Given the description of an element on the screen output the (x, y) to click on. 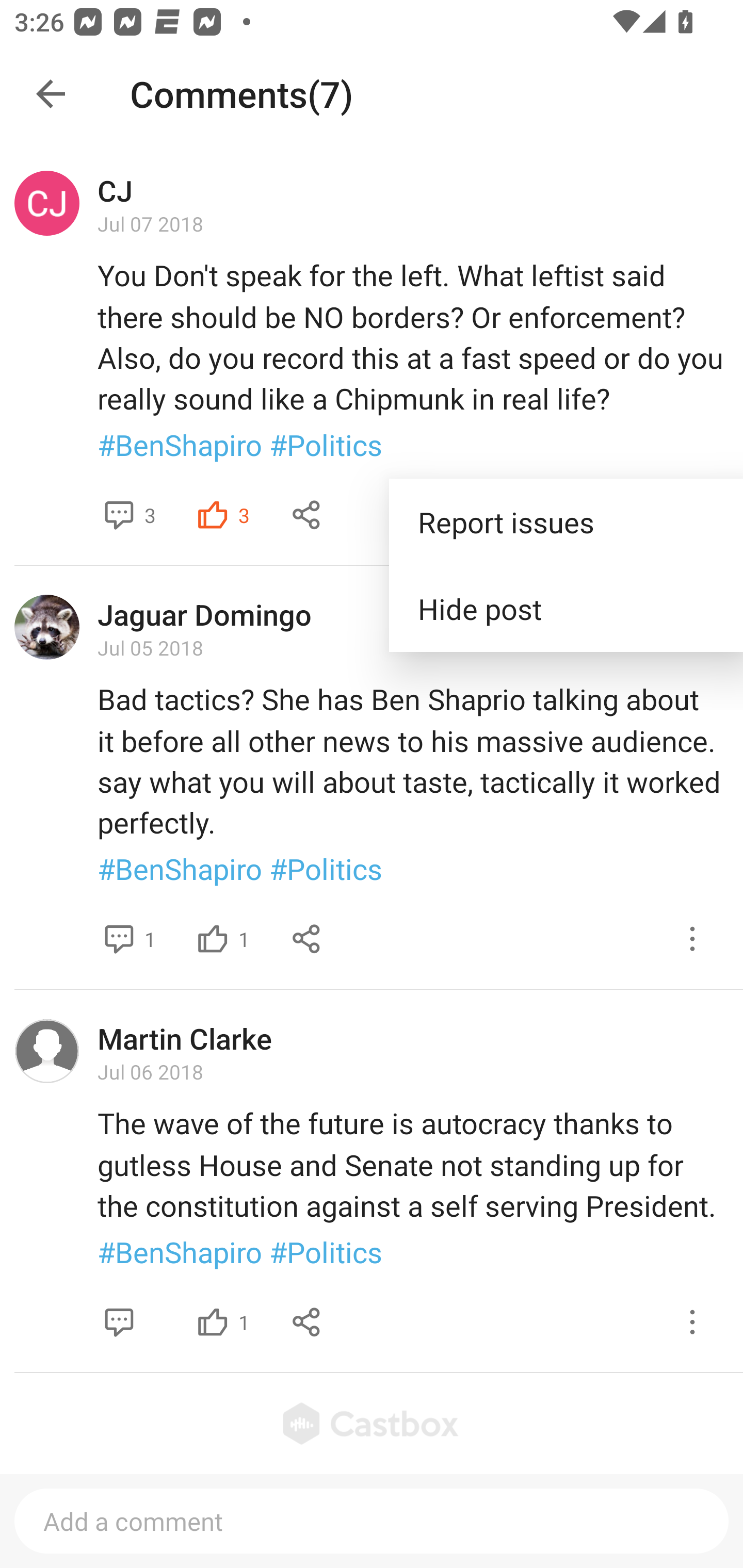
Report issues (566, 522)
Hide post (566, 609)
